Given the description of an element on the screen output the (x, y) to click on. 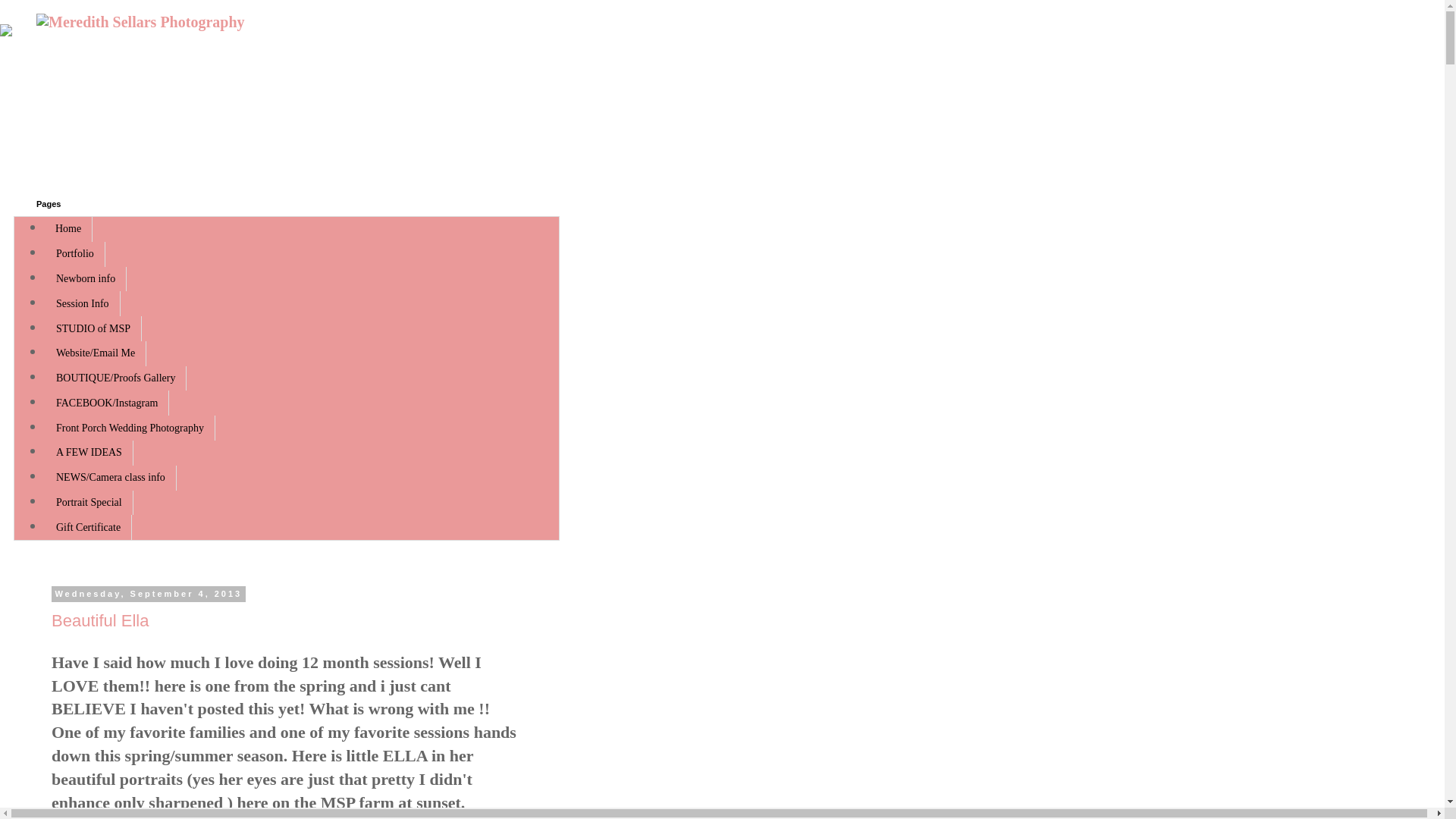
Portfolio (74, 253)
Home (69, 229)
Session Info (82, 303)
Portrait Special (89, 502)
A FEW IDEAS (89, 453)
STUDIO of MSP (93, 328)
Front Porch Wedding Photography (130, 427)
Beautiful Ella (99, 619)
Newborn info (85, 278)
Gift Certificate (88, 527)
